Given the description of an element on the screen output the (x, y) to click on. 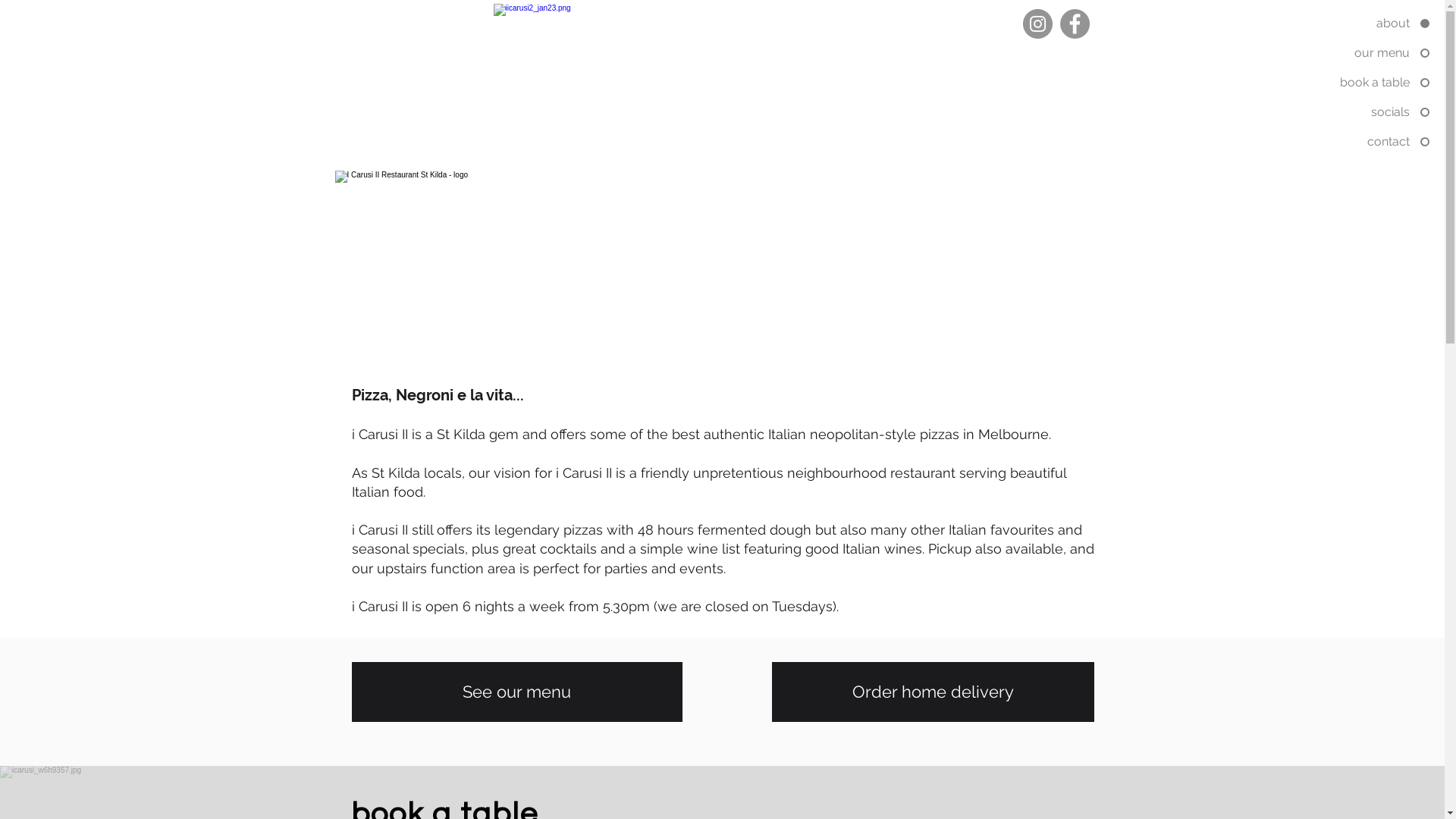
our menu Element type: text (1355, 52)
socials Element type: text (1355, 111)
See our menu Element type: text (516, 691)
book a table Element type: text (1355, 82)
Order home delivery Element type: text (932, 691)
contact Element type: text (1355, 141)
about Element type: text (1355, 23)
ICarussiii_ Logo copy 2.png Element type: hover (705, 280)
